Given the description of an element on the screen output the (x, y) to click on. 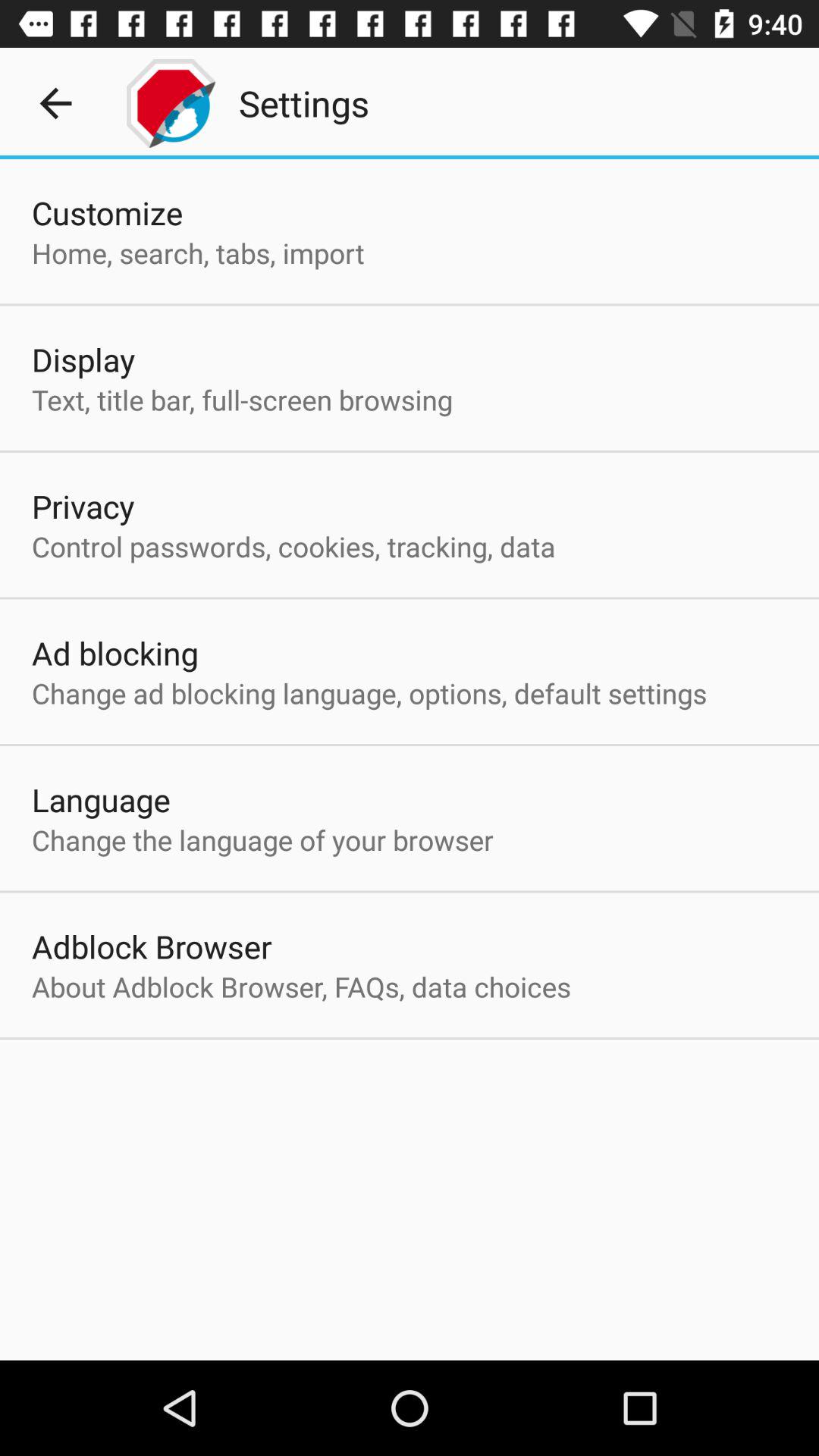
select the text title bar icon (241, 399)
